Given the description of an element on the screen output the (x, y) to click on. 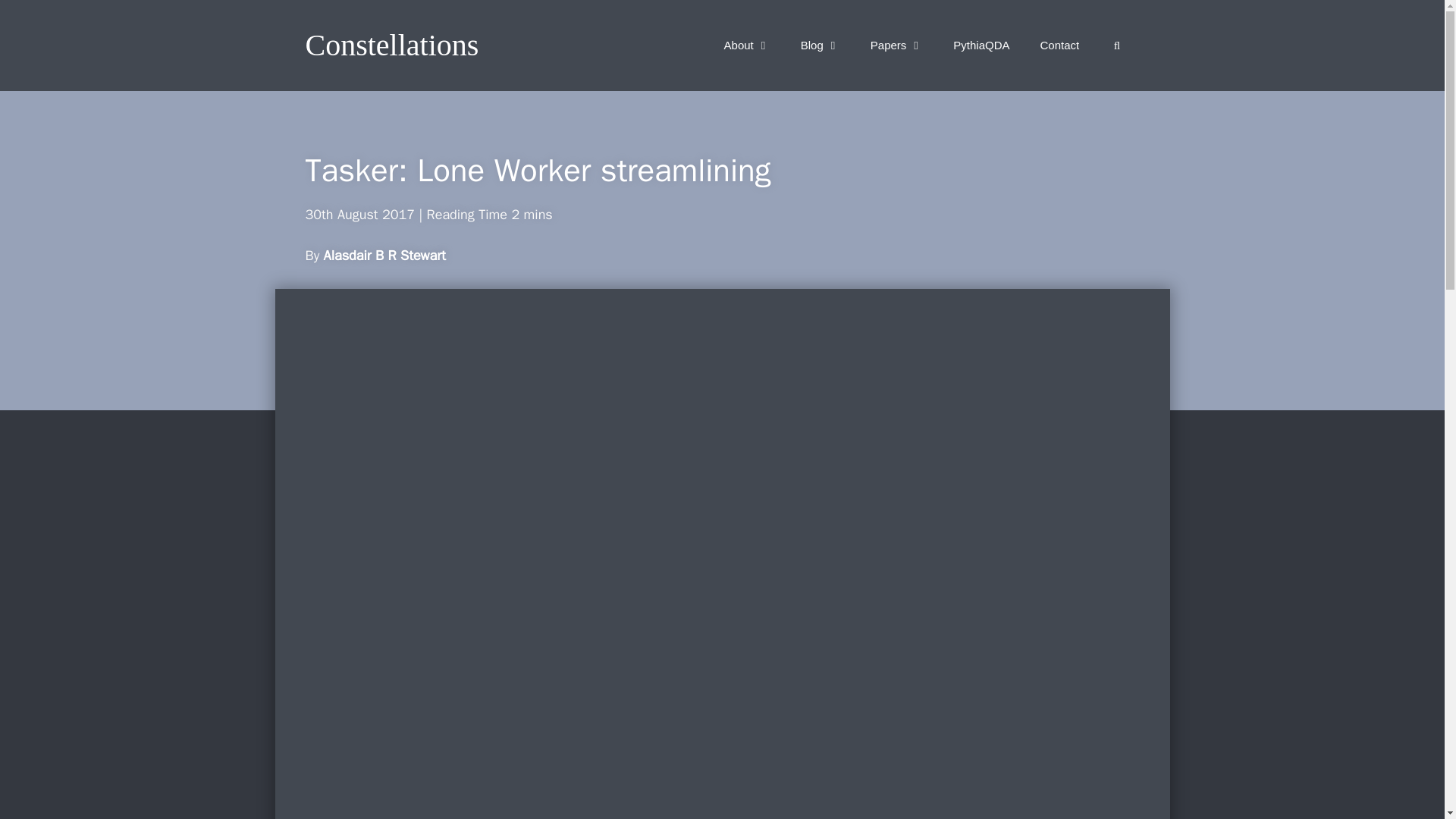
Blog (821, 44)
About (747, 44)
View all posts by Alasdair B R Stewart (384, 255)
Alasdair B R Stewart (384, 255)
PythiaQDA (981, 44)
Papers (897, 44)
Contact (1059, 44)
Constellations (391, 45)
